Given the description of an element on the screen output the (x, y) to click on. 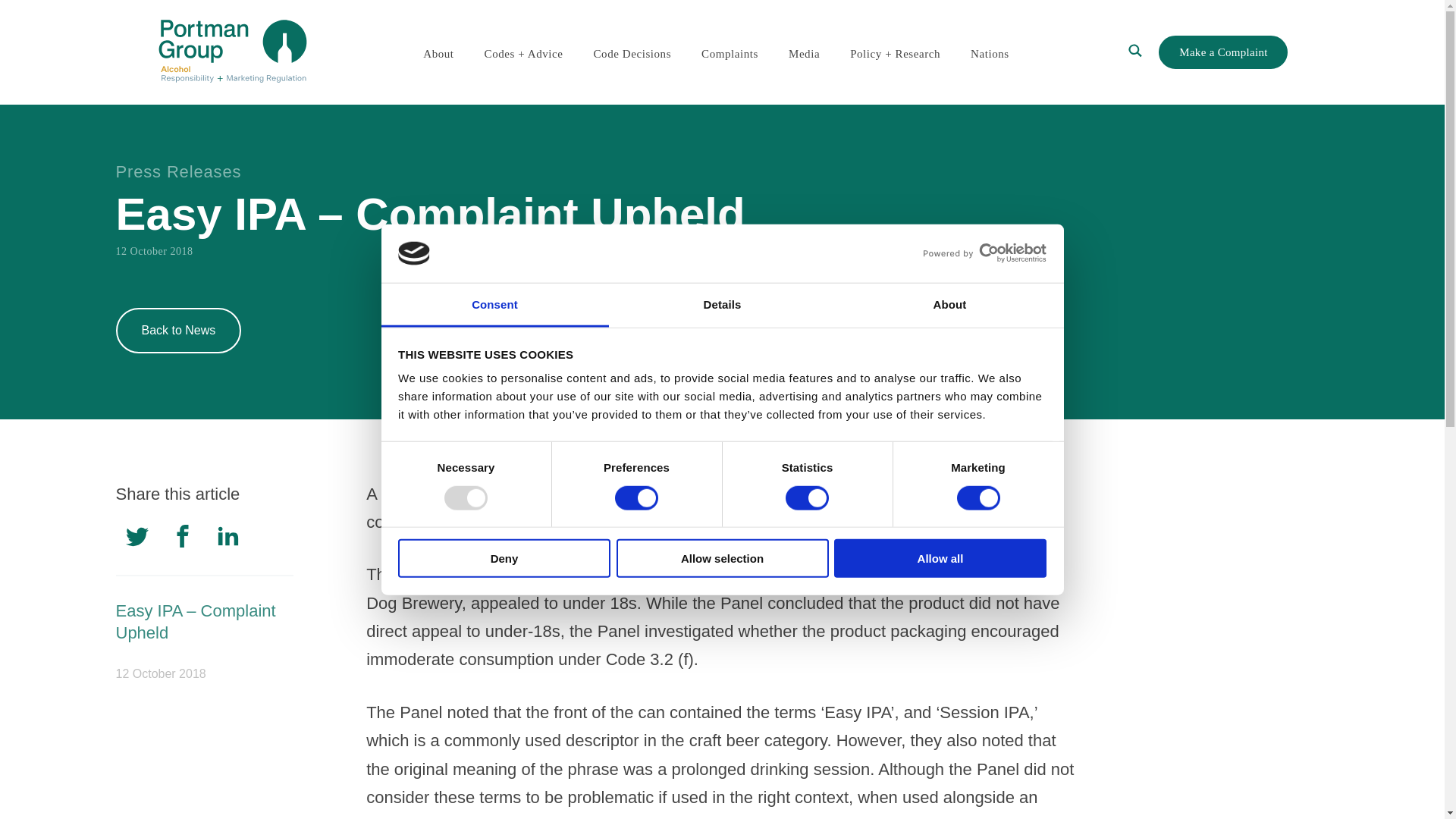
Facebook (182, 541)
Details (721, 305)
LinkedIn (228, 541)
Allow all (940, 558)
Twitter (136, 541)
About (948, 305)
Deny (503, 558)
Consent (494, 305)
Allow selection (721, 558)
